Given the description of an element on the screen output the (x, y) to click on. 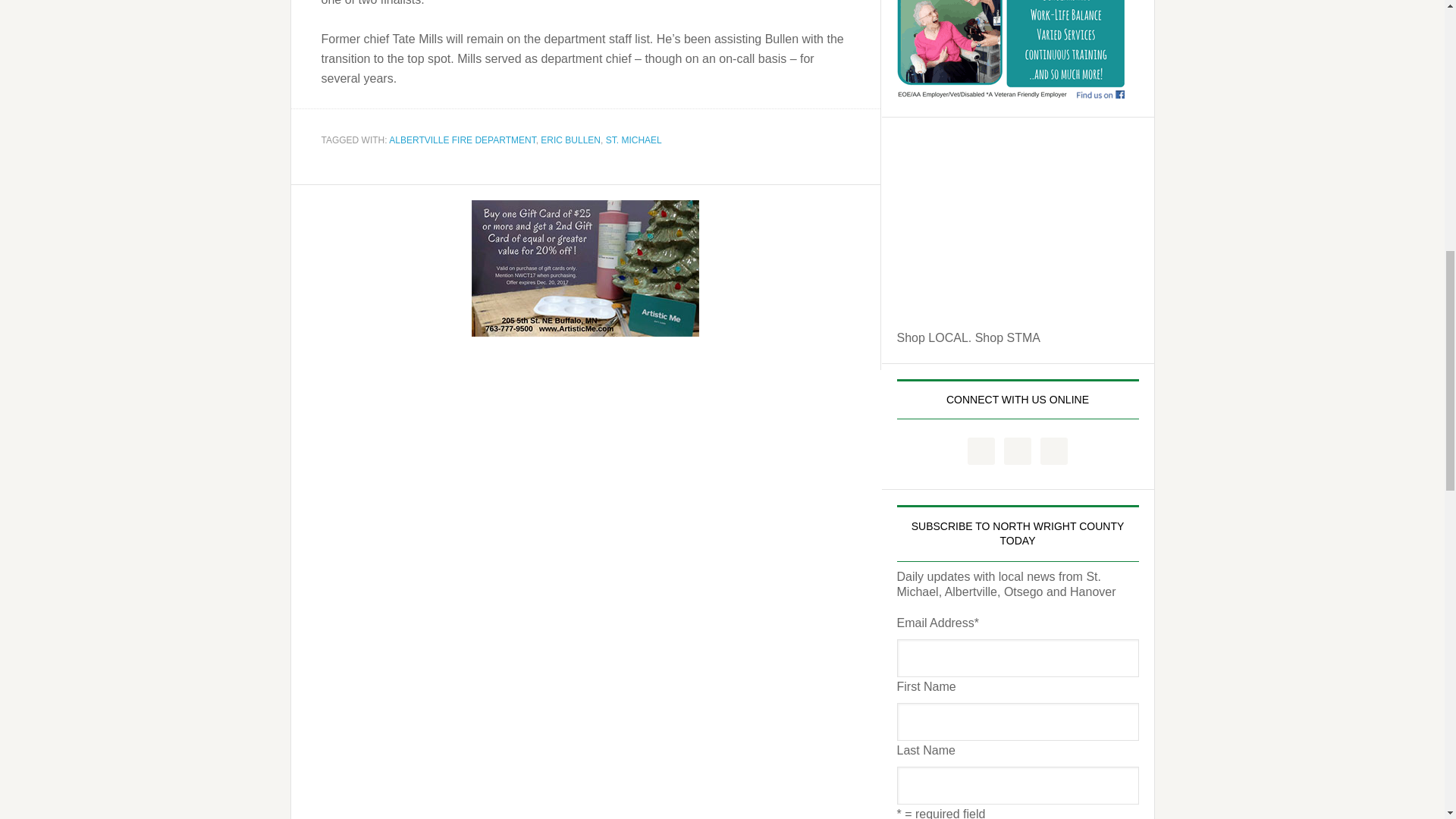
ParkView Care Center 300x300 (1010, 50)
ST. MICHAEL (633, 140)
ALBERTVILLE FIRE DEPARTMENT (461, 140)
Artistic Me - Nov 17 (584, 269)
ERIC BULLEN (569, 140)
